Given the description of an element on the screen output the (x, y) to click on. 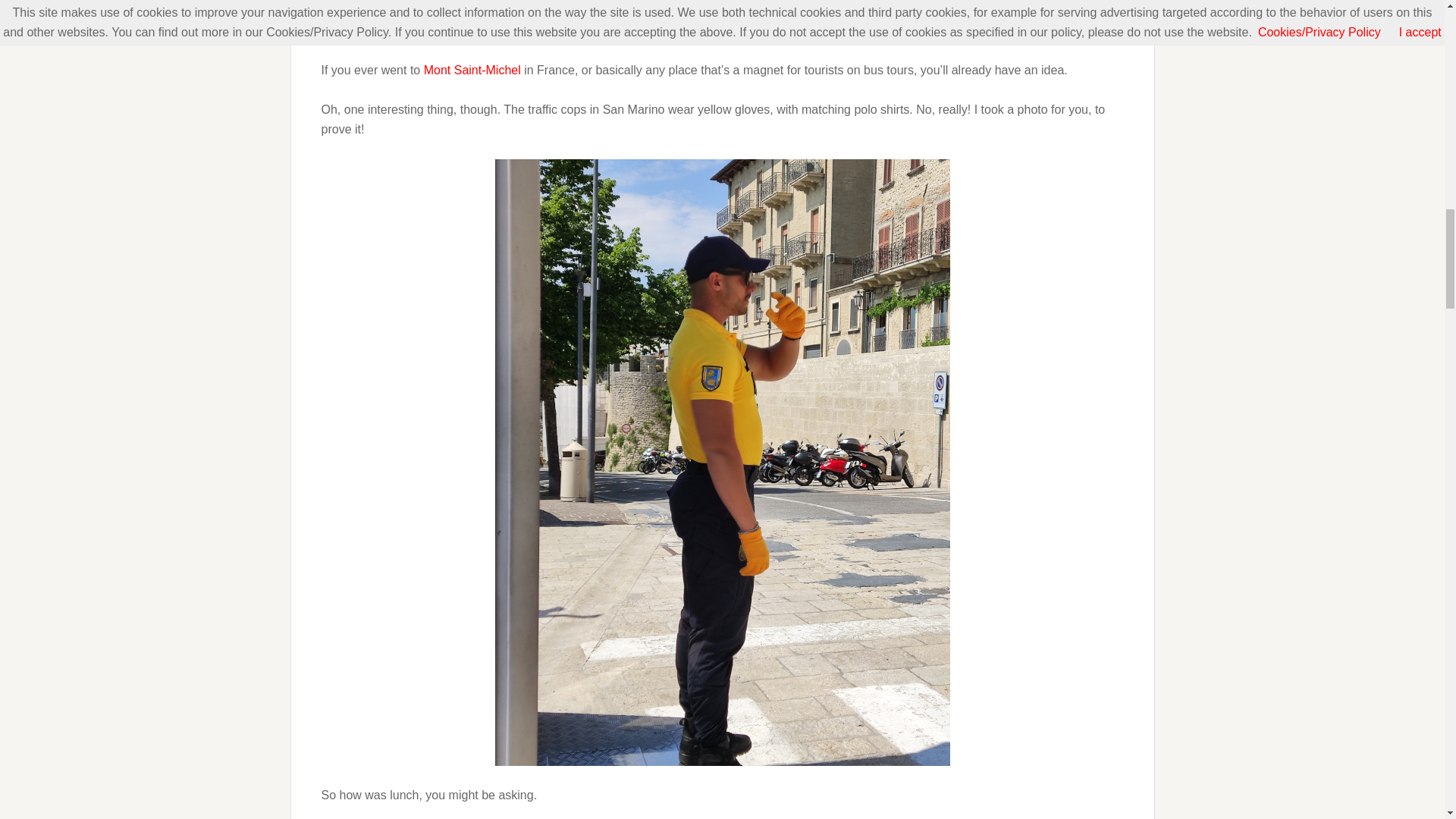
Mont Saint-Michel (472, 69)
